Given the description of an element on the screen output the (x, y) to click on. 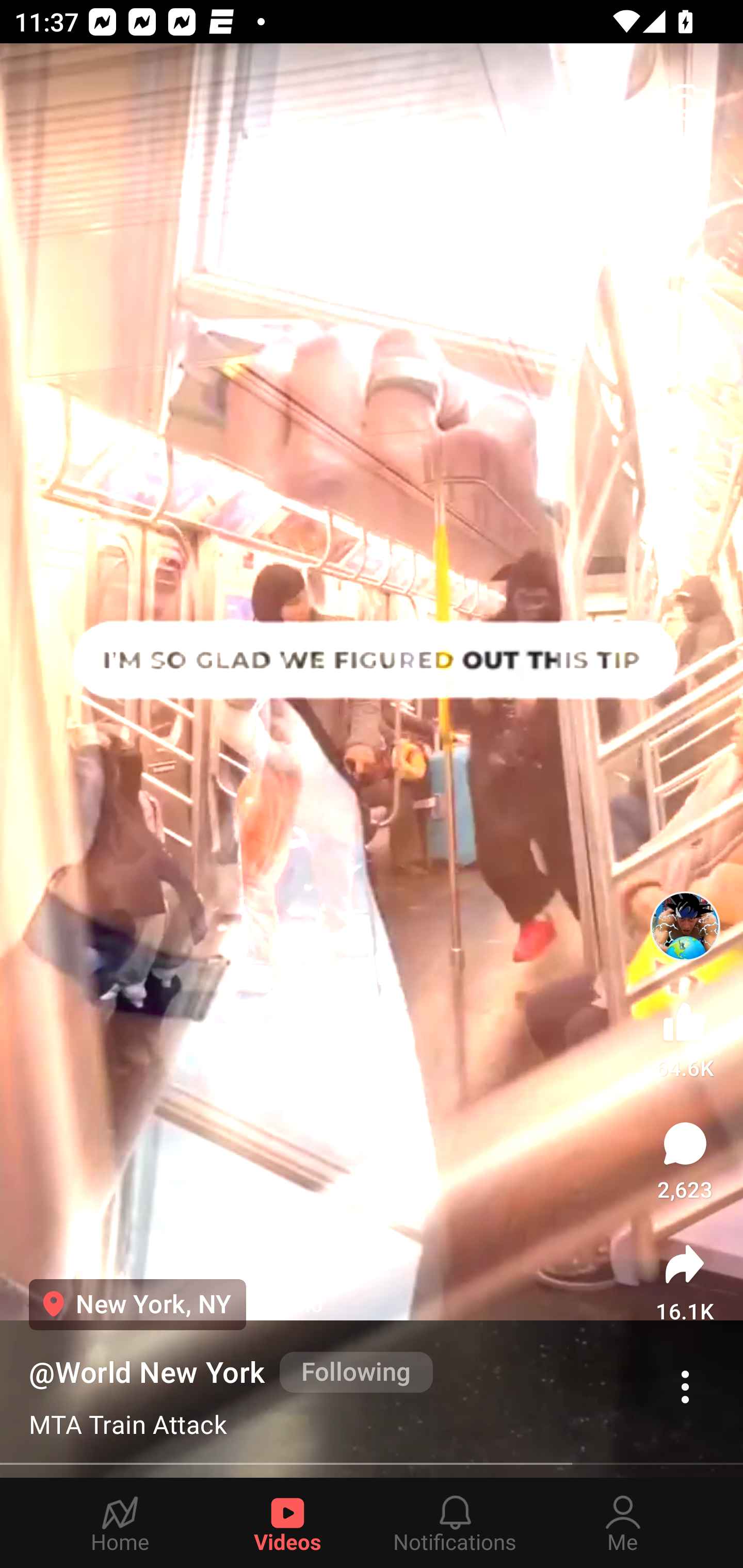
64.6K (684, 1035)
2,623 (685, 1160)
16.1K (685, 1282)
New York, NY (136, 1304)
Following (356, 1371)
@World New York (146, 1373)
Home (119, 1522)
Notifications (455, 1522)
Me (622, 1522)
